Given the description of an element on the screen output the (x, y) to click on. 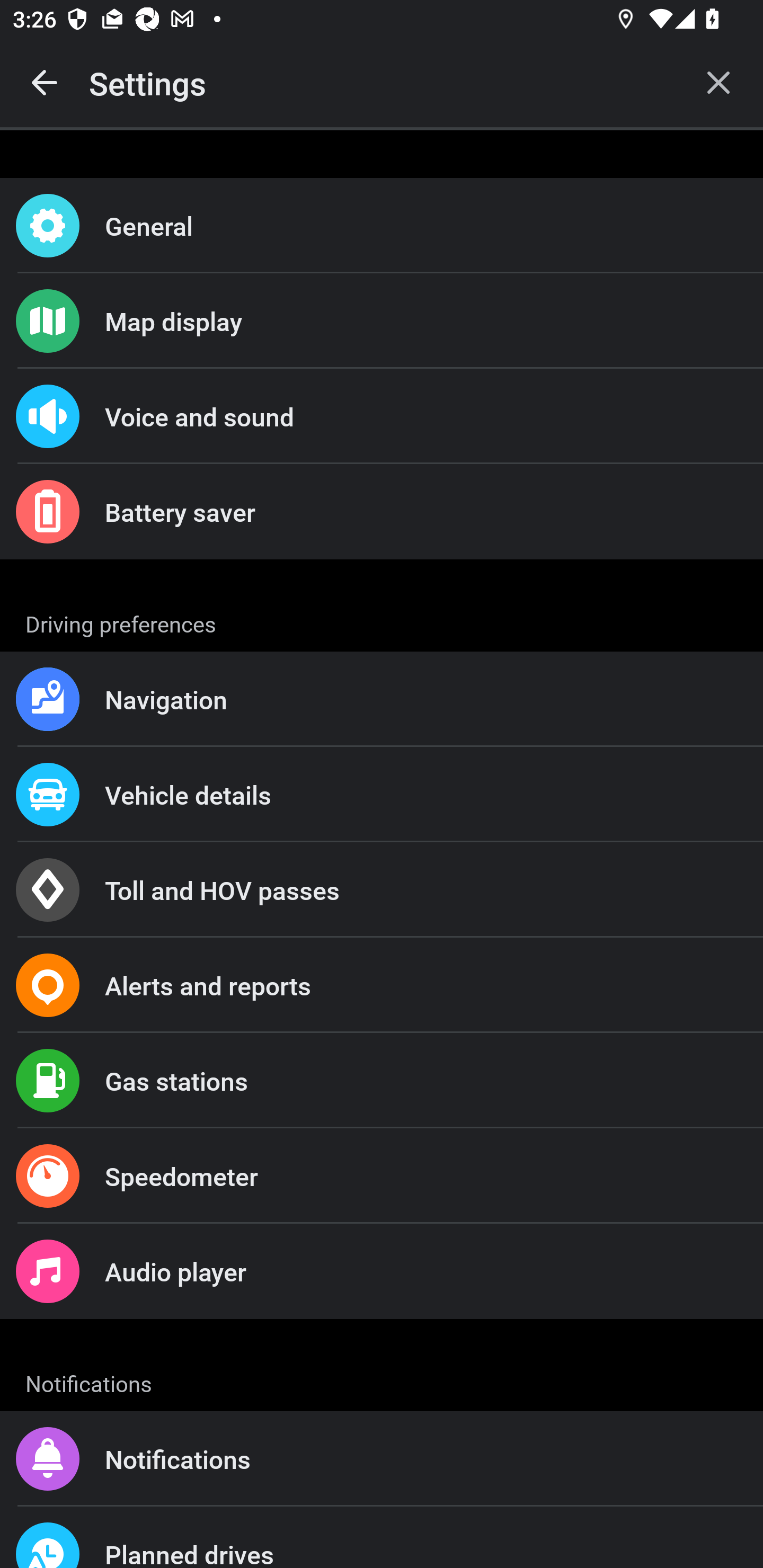
General (381, 225)
Map display (381, 320)
Voice and sound (381, 416)
Battery saver (381, 511)
ACTION_CELL_ICON Settings ACTION_CELL_TEXT (381, 620)
Navigation (381, 699)
Vehicle details (381, 794)
Toll and HOV passes (381, 889)
Alerts and reports (381, 985)
Gas stations (381, 1080)
Speedometer (381, 1175)
Audio player (381, 1270)
Notifications (381, 1458)
